Given the description of an element on the screen output the (x, y) to click on. 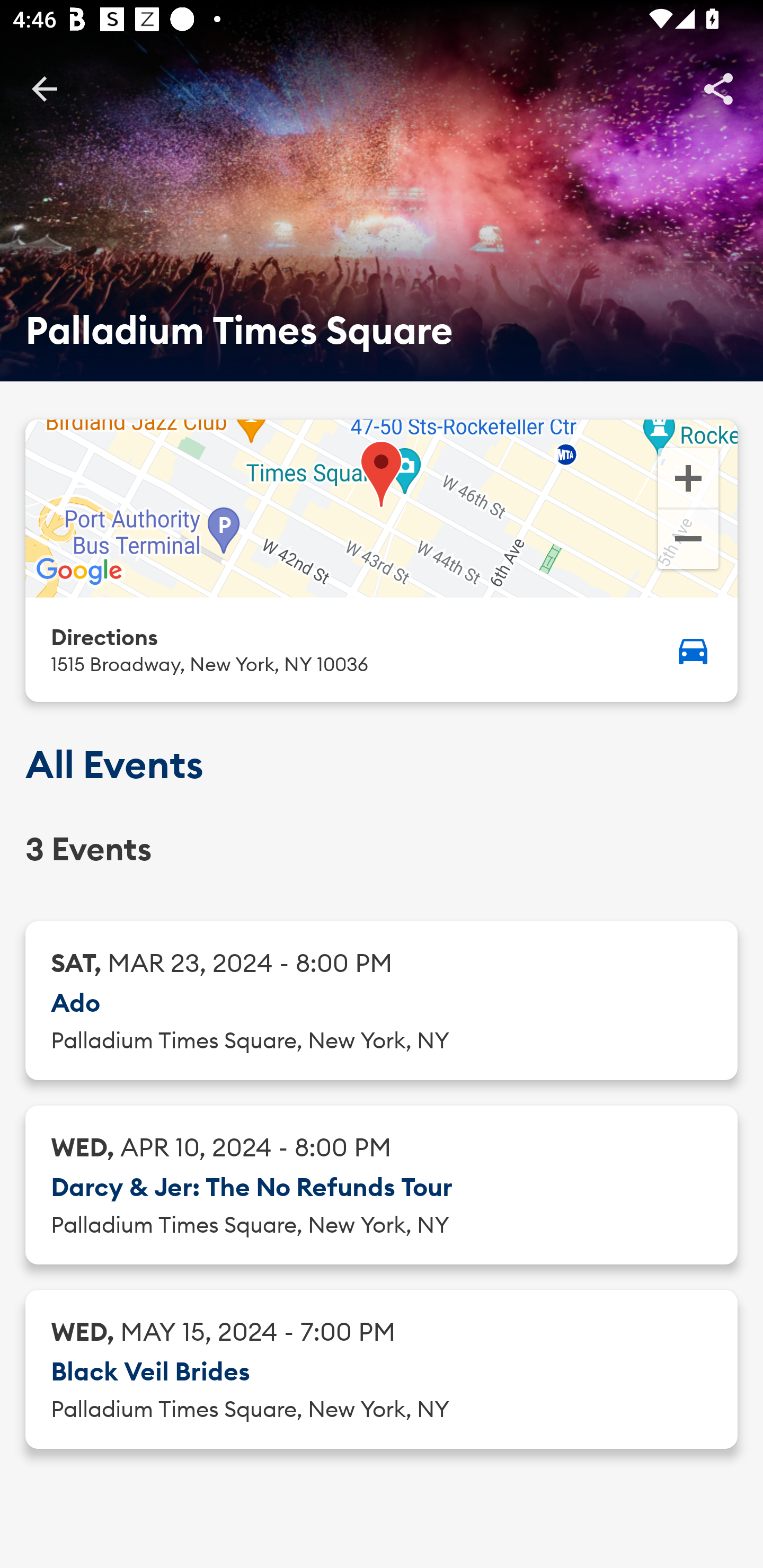
BackButton (44, 88)
Share (718, 88)
Zoom in (687, 476)
Zoom out (687, 540)
Directions 1515 Broadway, New York, NY 10036 (381, 649)
